Given the description of an element on the screen output the (x, y) to click on. 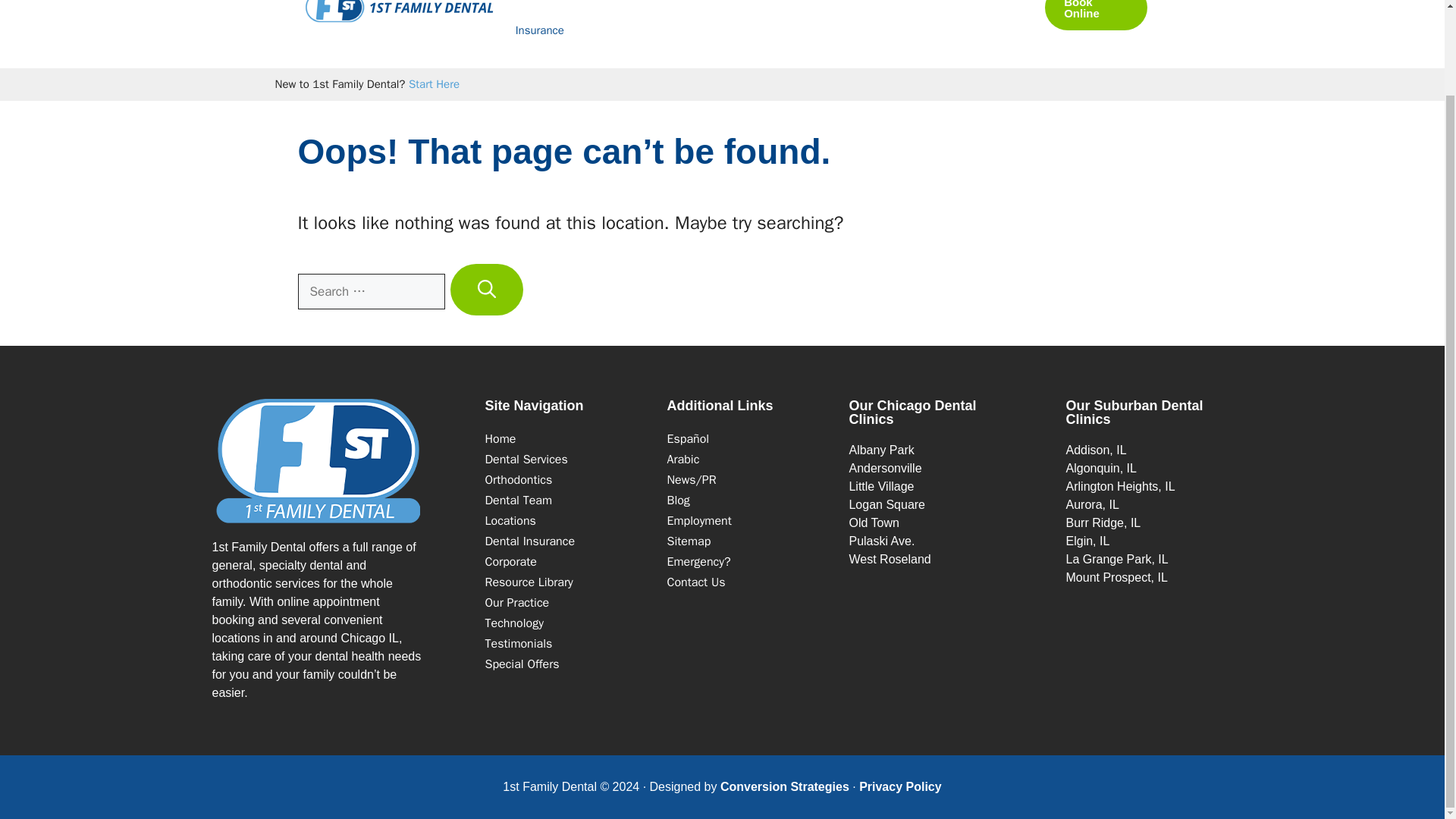
Resource Library (528, 581)
Dental Services (563, 3)
Corporate Partnerships (510, 561)
Locations (861, 3)
Insurance (529, 540)
Orthodontics (518, 479)
Dental Team (518, 500)
Insurance (539, 30)
Orthodontics (756, 3)
Dental Team (948, 3)
Special Offers (521, 663)
Dental Services (525, 459)
Search for: (370, 291)
Locations (509, 520)
Home (500, 438)
